Given the description of an element on the screen output the (x, y) to click on. 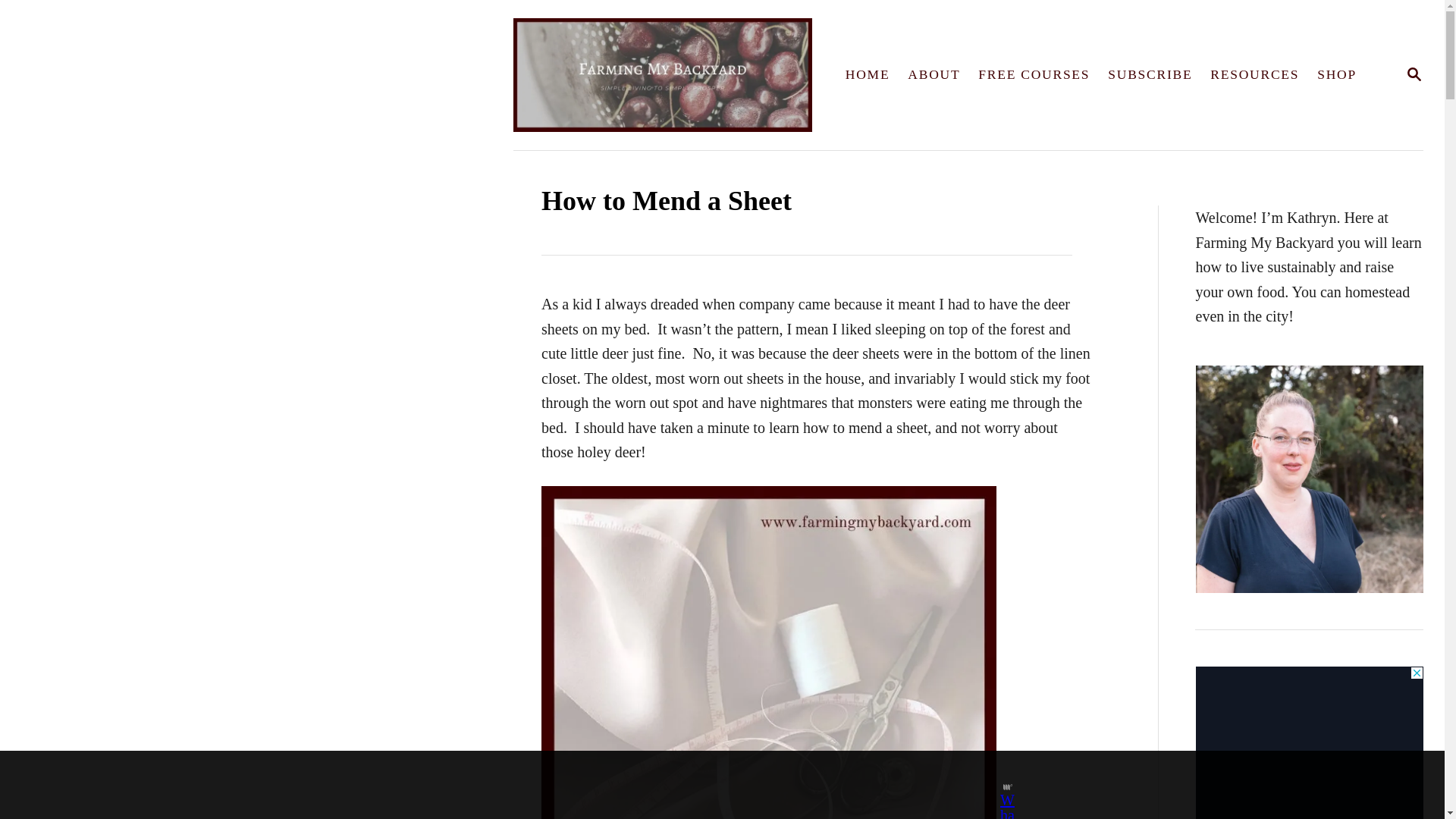
HOME (867, 74)
FREE COURSES (1034, 74)
SHOP (1336, 74)
MAGNIFYING GLASS (1414, 74)
3rd party ad content (1308, 742)
RESOURCES (1254, 74)
ABOUT (1414, 75)
Farming My Backyard (933, 74)
SUBSCRIBE (671, 74)
3rd party ad content (1150, 74)
